Given the description of an element on the screen output the (x, y) to click on. 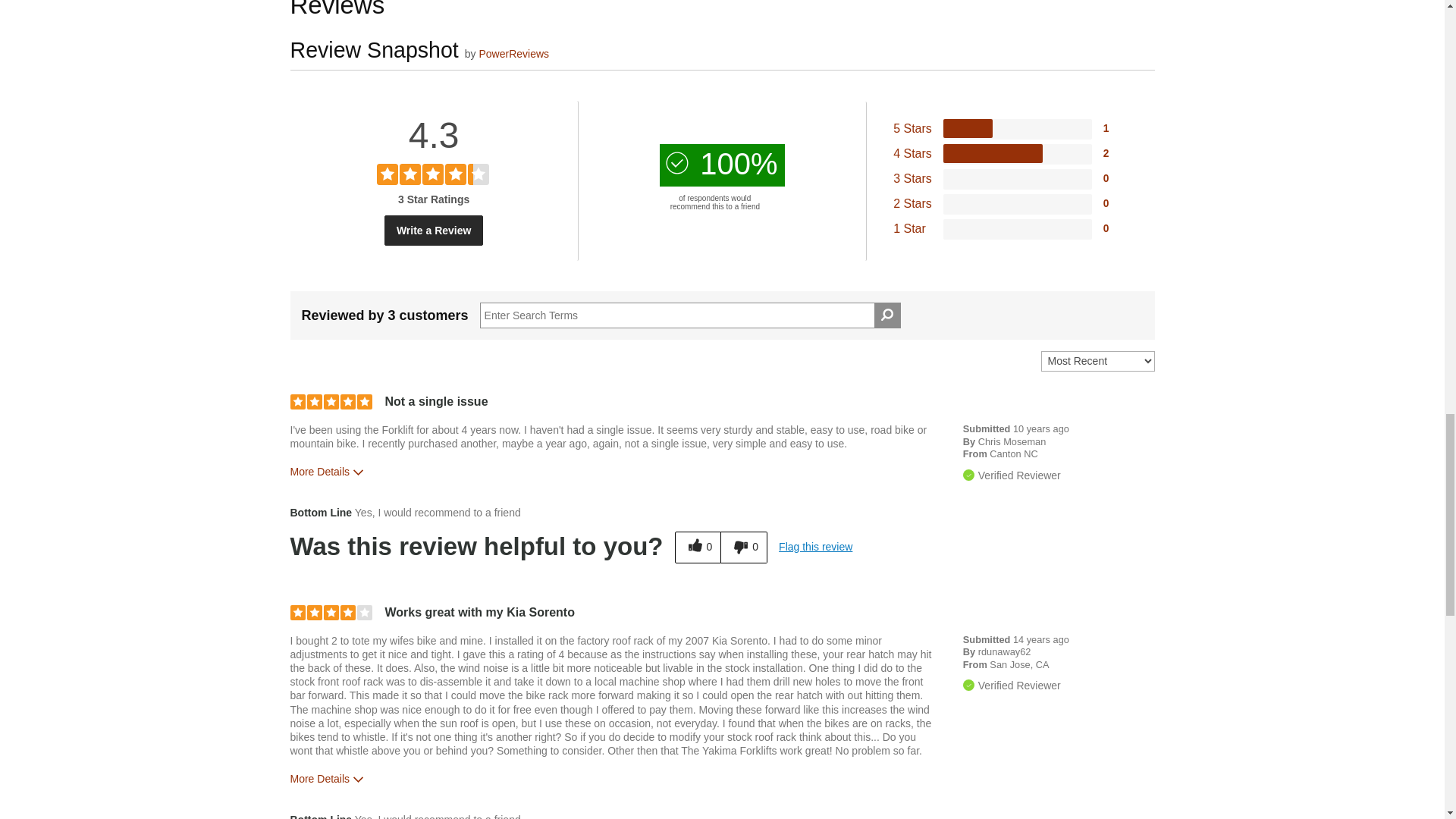
Verified Buyer (968, 685)
Verified Buyer (968, 474)
